Given the description of an element on the screen output the (x, y) to click on. 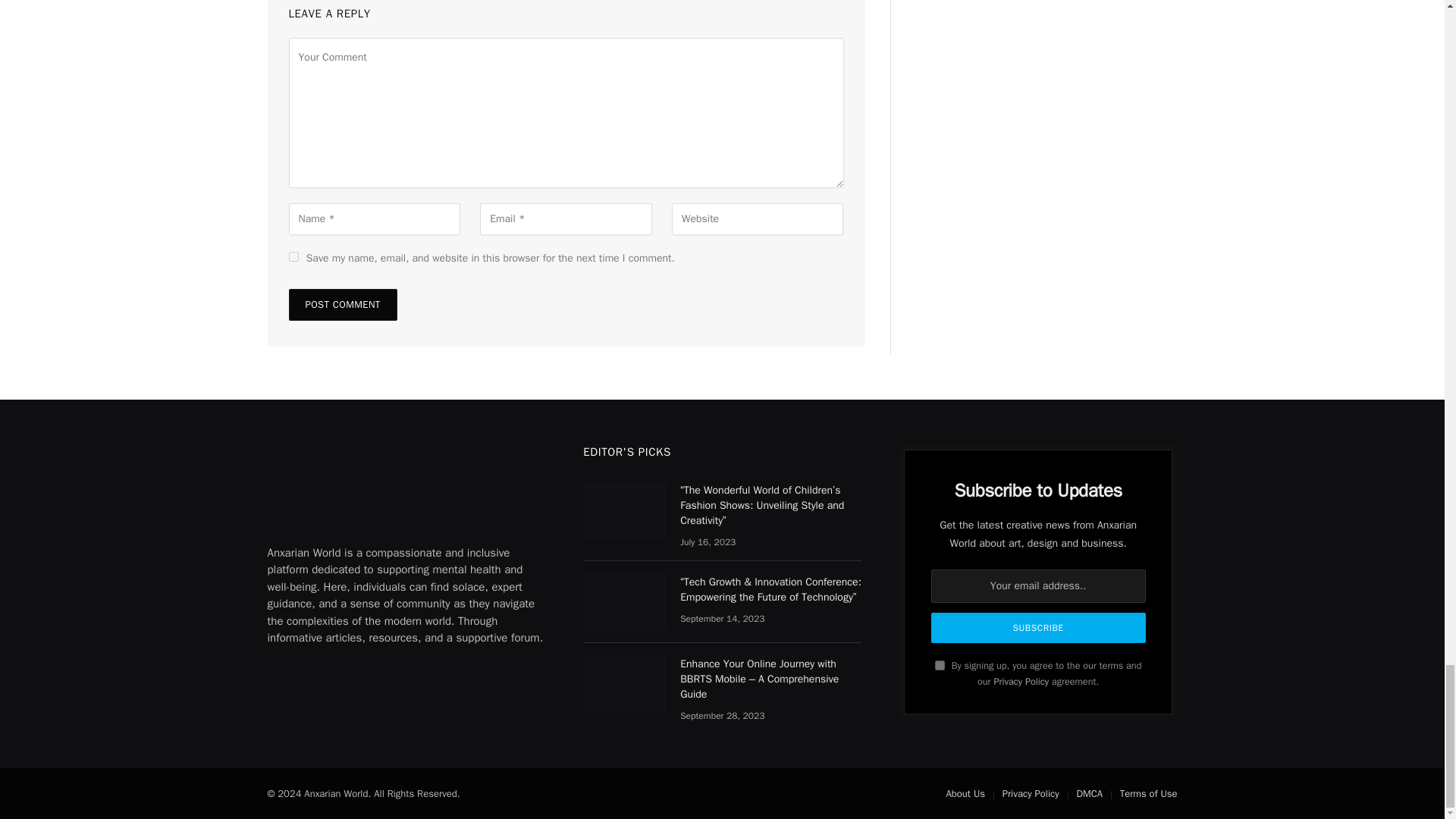
Post Comment (342, 305)
Post Comment (342, 305)
Subscribe (1038, 627)
on (939, 665)
yes (293, 256)
